Given the description of an element on the screen output the (x, y) to click on. 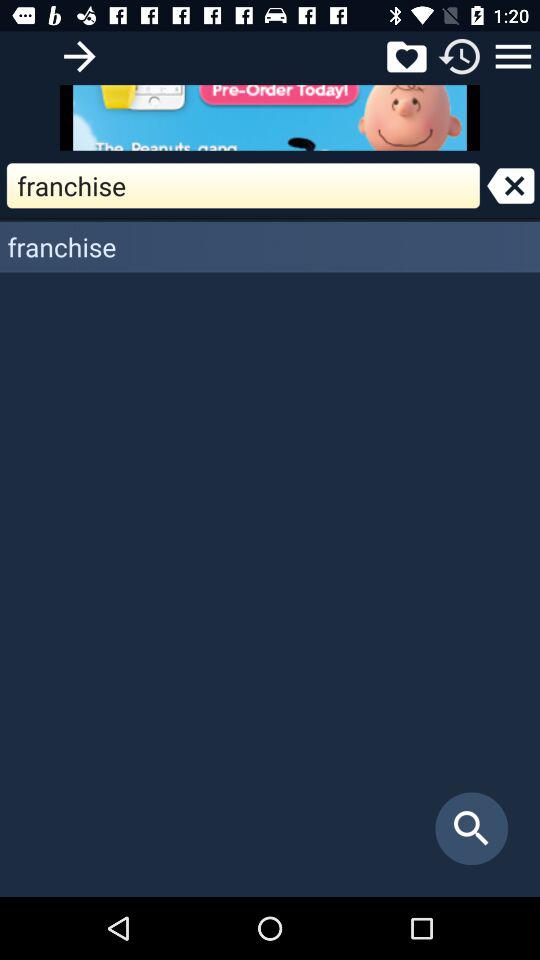
go to advertisement (270, 117)
